Given the description of an element on the screen output the (x, y) to click on. 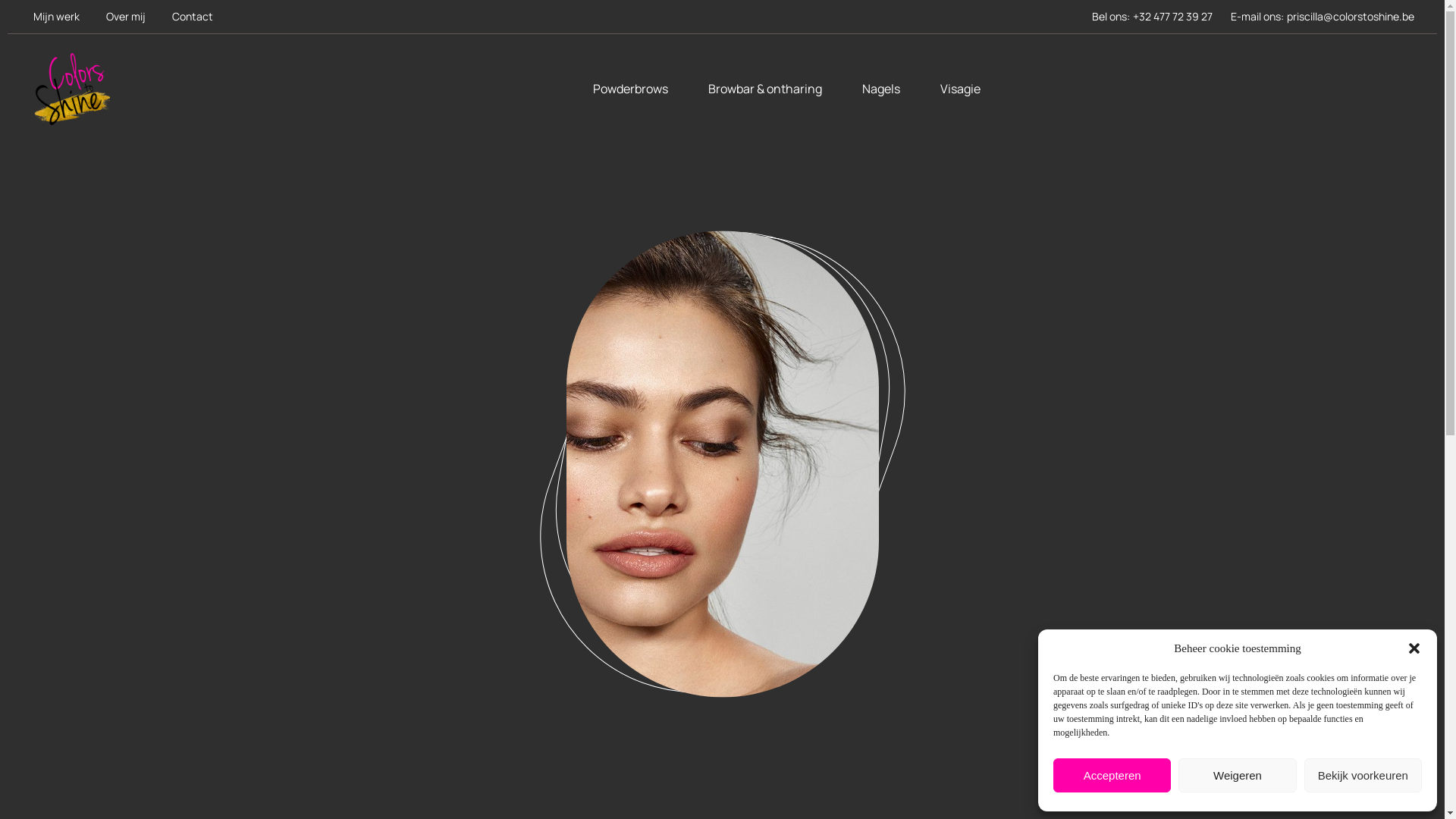
Nagels Element type: text (881, 88)
Powderbrows Element type: text (630, 88)
Contact Element type: text (192, 16)
Browbar & ontharing Element type: text (765, 88)
Mijn werk Element type: text (56, 16)
Over mij Element type: text (125, 16)
Bekijk voorkeuren Element type: text (1362, 775)
Accepteren Element type: text (1111, 775)
priscilla@colorstoshine.be Element type: text (1350, 16)
+32 477 72 39 27 Element type: text (1172, 16)
Weigeren Element type: text (1236, 775)
Visagie Element type: text (960, 88)
